Given the description of an element on the screen output the (x, y) to click on. 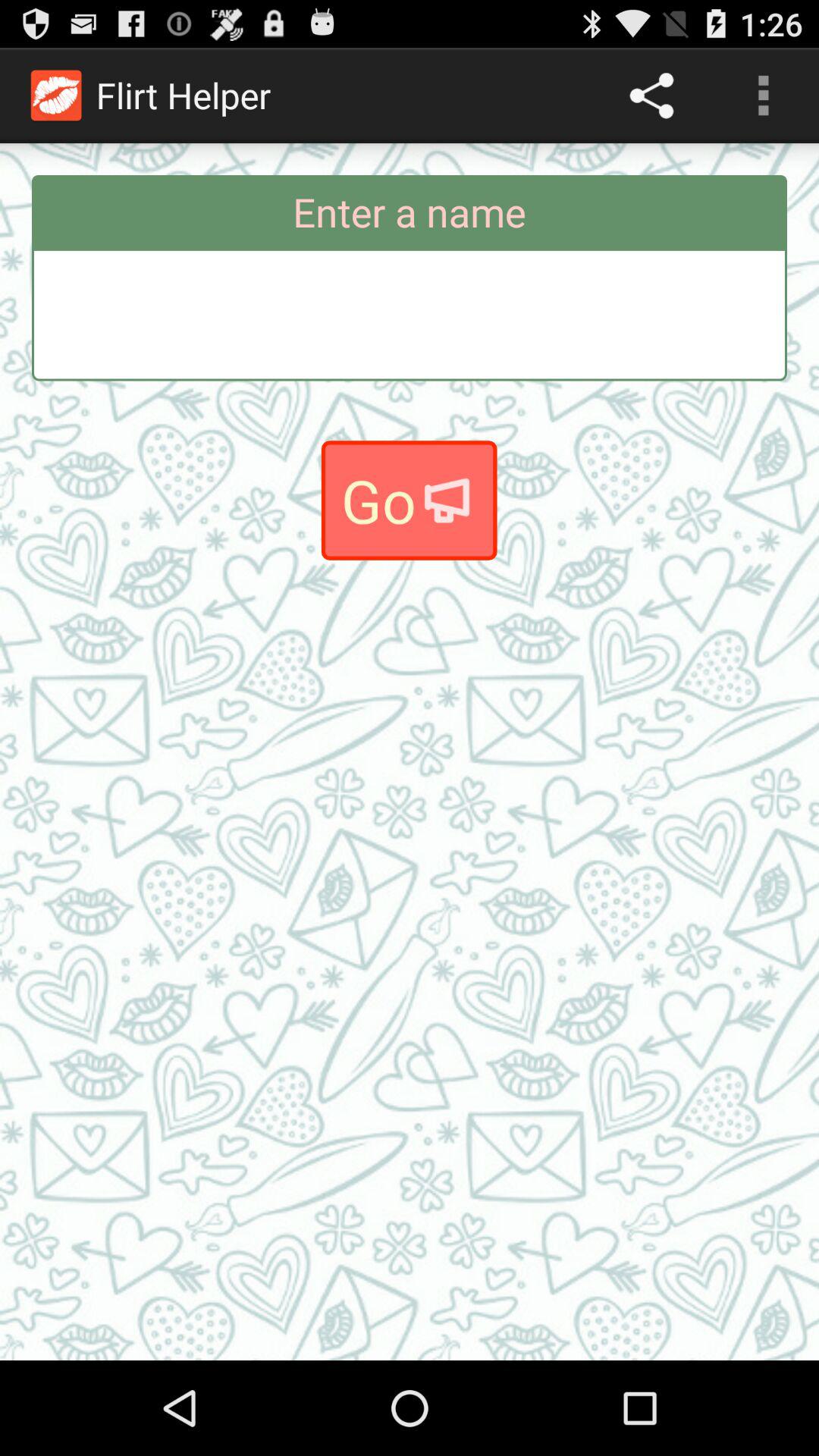
enter information (409, 314)
